Given the description of an element on the screen output the (x, y) to click on. 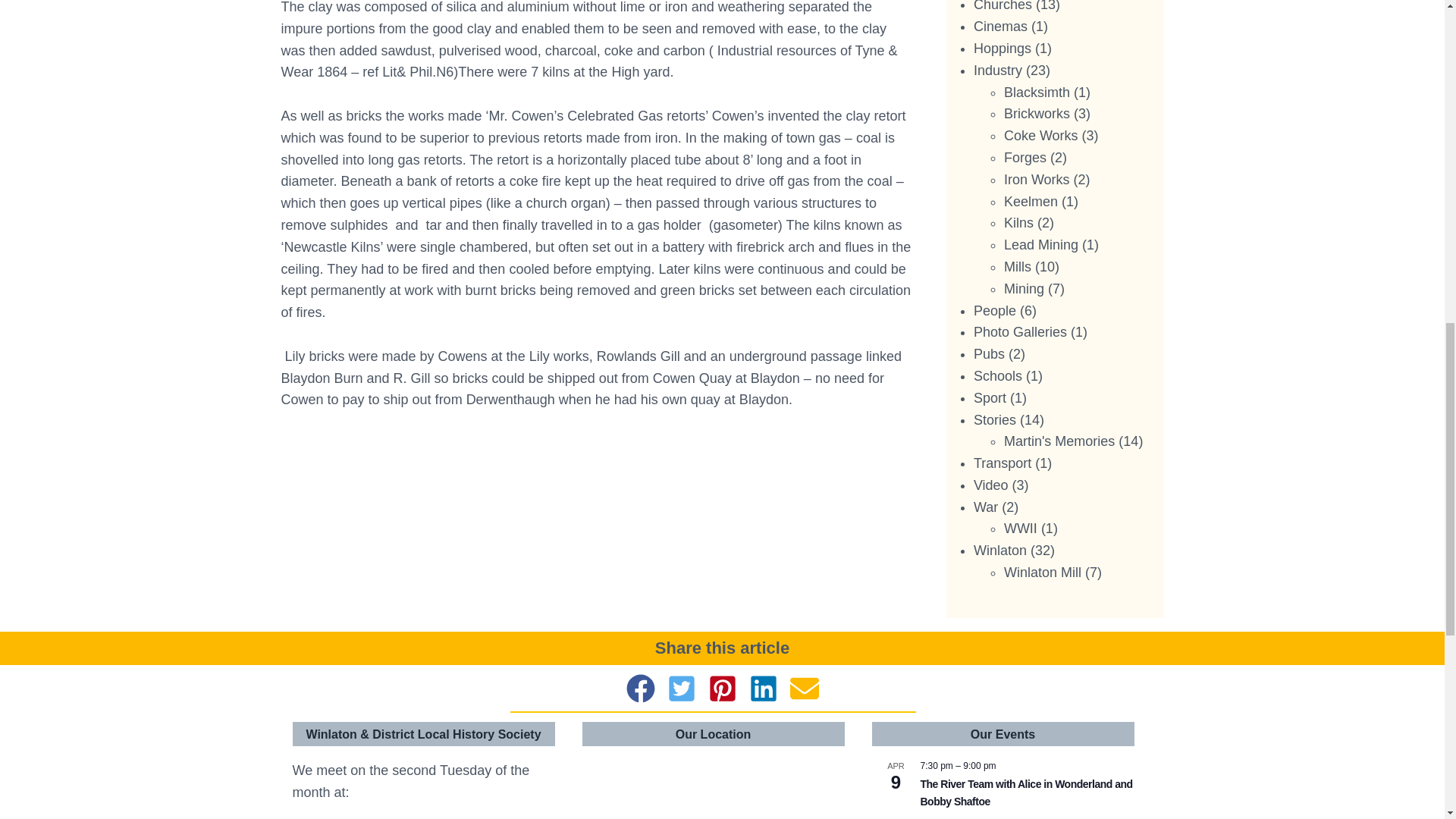
Industry (998, 70)
Keelmen (1031, 201)
Blacksimth (1037, 92)
Iron Works (1037, 179)
Brickworks (1037, 113)
Coke Works (1041, 135)
Churches (1003, 6)
Forges (1025, 157)
Hoppings (1002, 48)
Kilns (1018, 222)
